Given the description of an element on the screen output the (x, y) to click on. 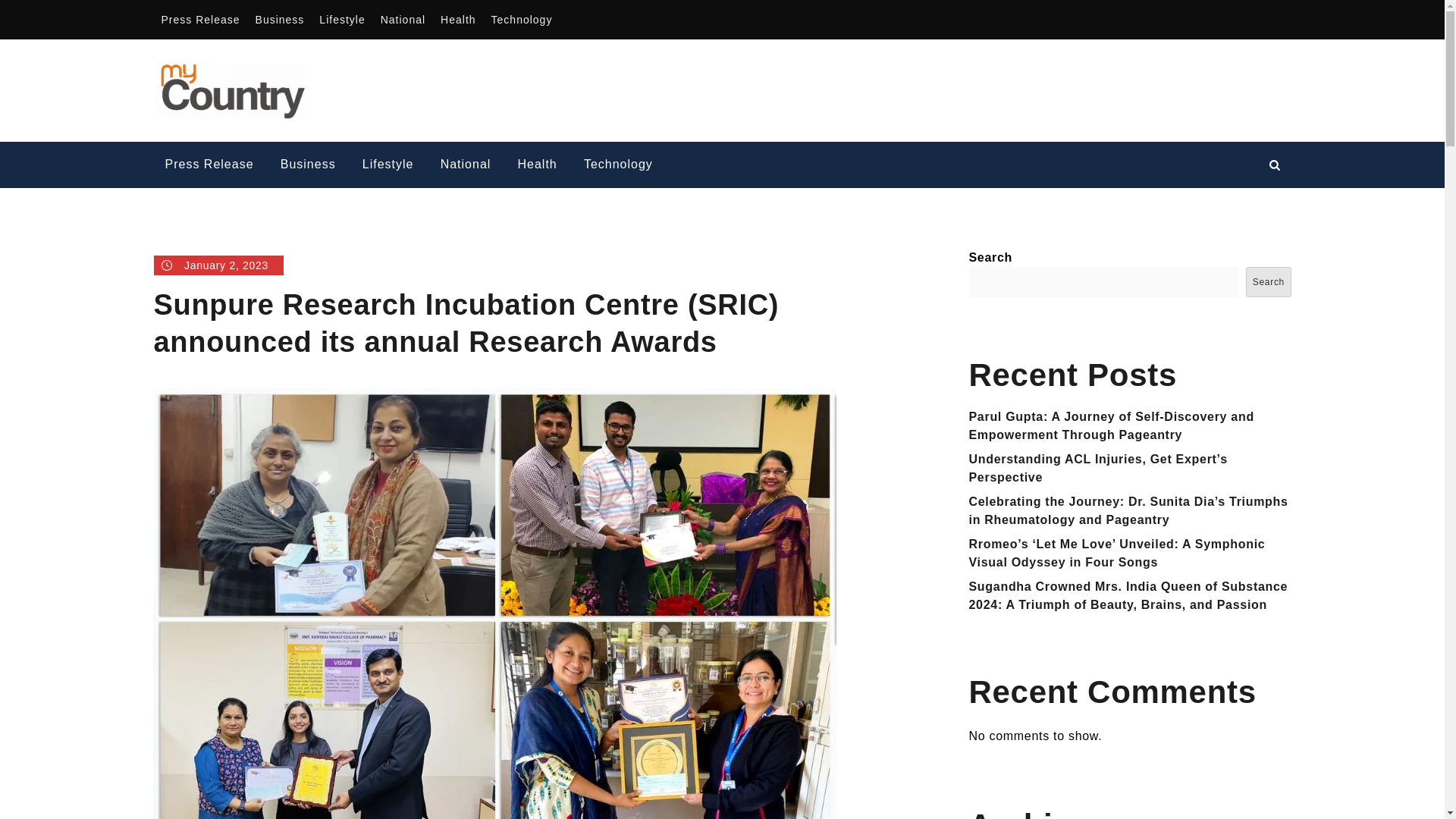
Business (280, 19)
Lifestyle (387, 164)
Health (537, 164)
Technology (617, 164)
Search (1268, 281)
Health (457, 19)
Technology (521, 19)
Press Release (199, 19)
January 2, 2023 (217, 265)
